Given the description of an element on the screen output the (x, y) to click on. 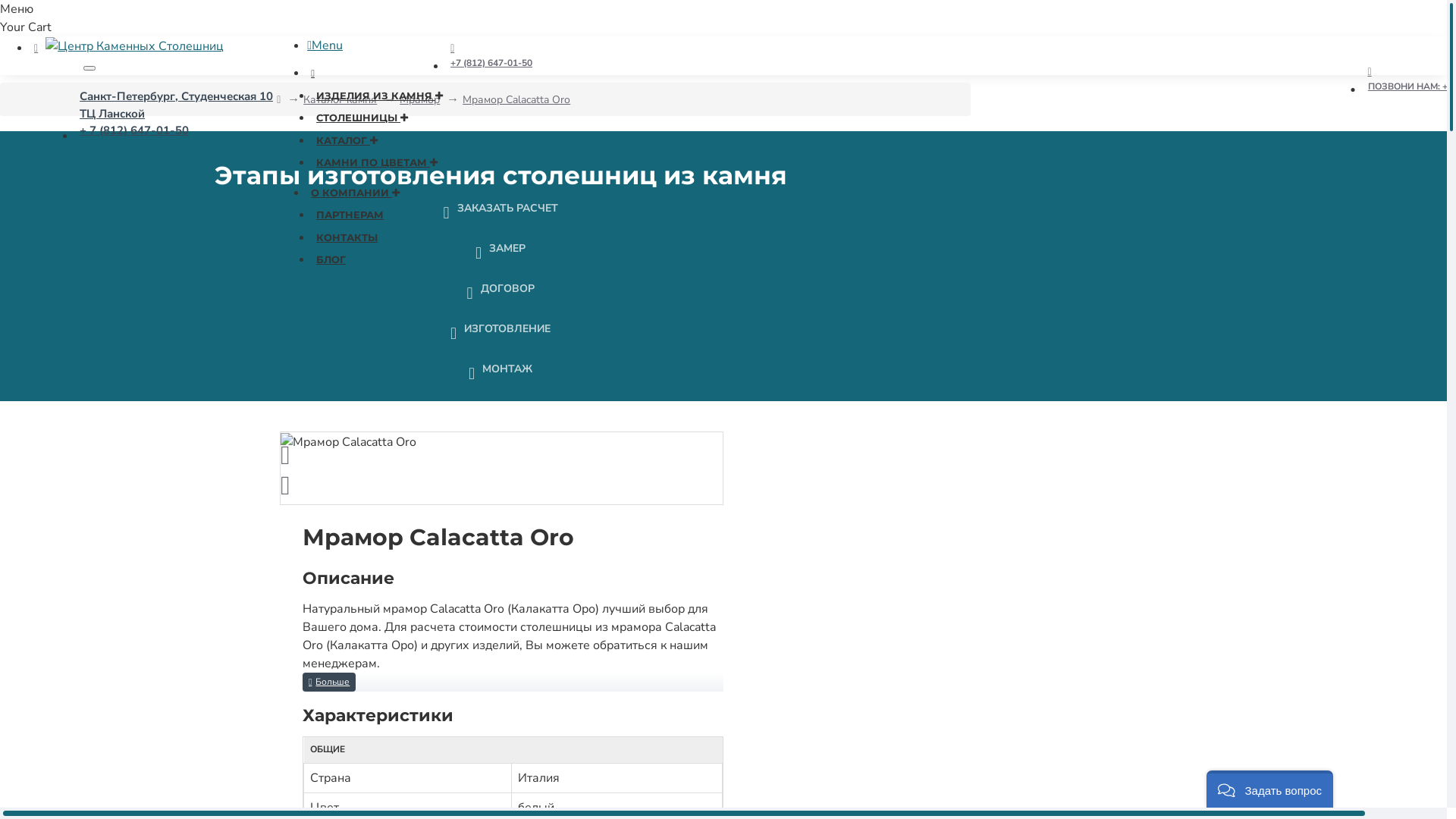
+7 (812) 647-01-50 Element type: text (491, 54)
Menu Element type: text (324, 45)
